Given the description of an element on the screen output the (x, y) to click on. 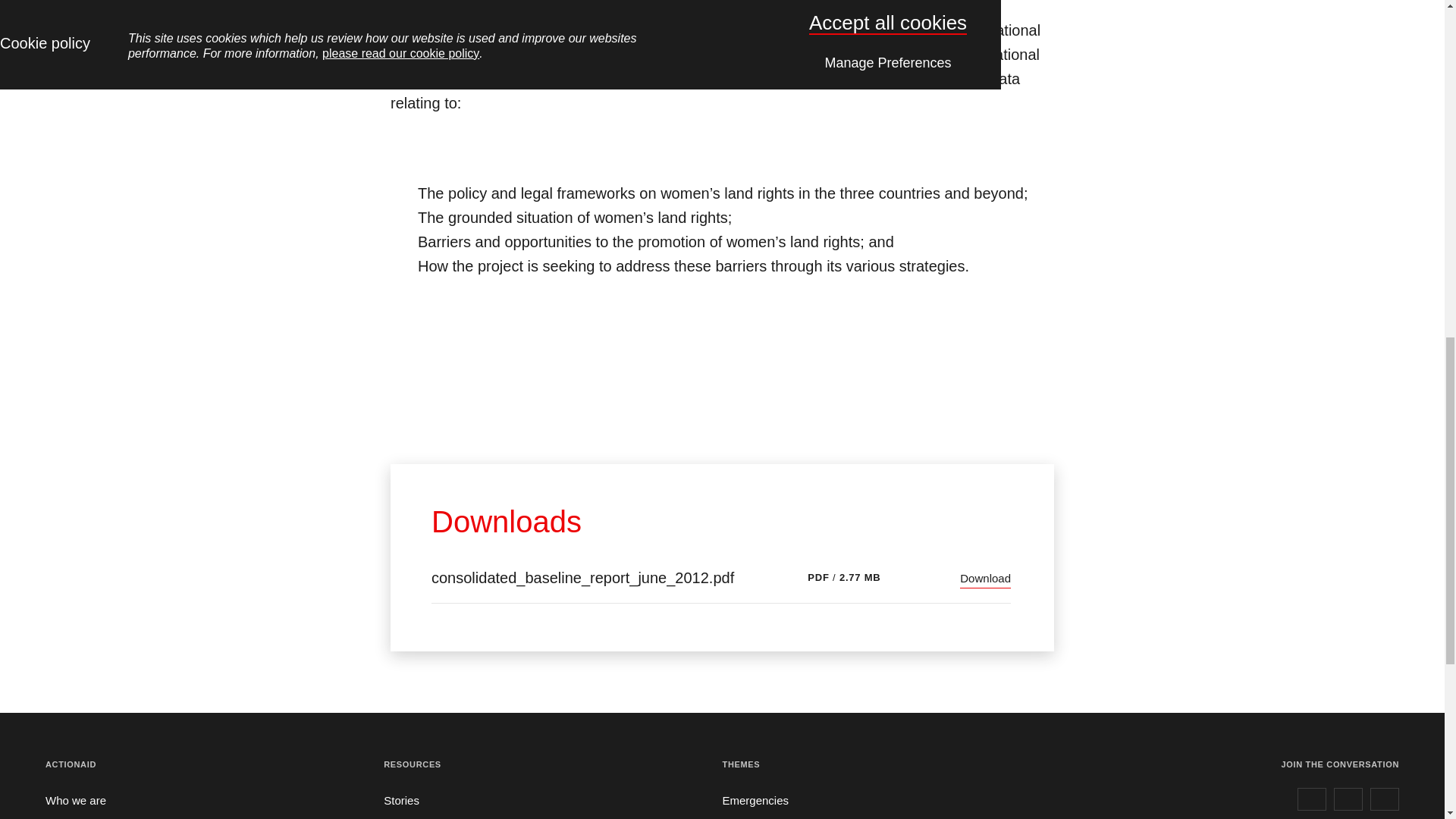
Facebook (1311, 798)
Twitter (1347, 798)
Youtube (1384, 798)
